Given the description of an element on the screen output the (x, y) to click on. 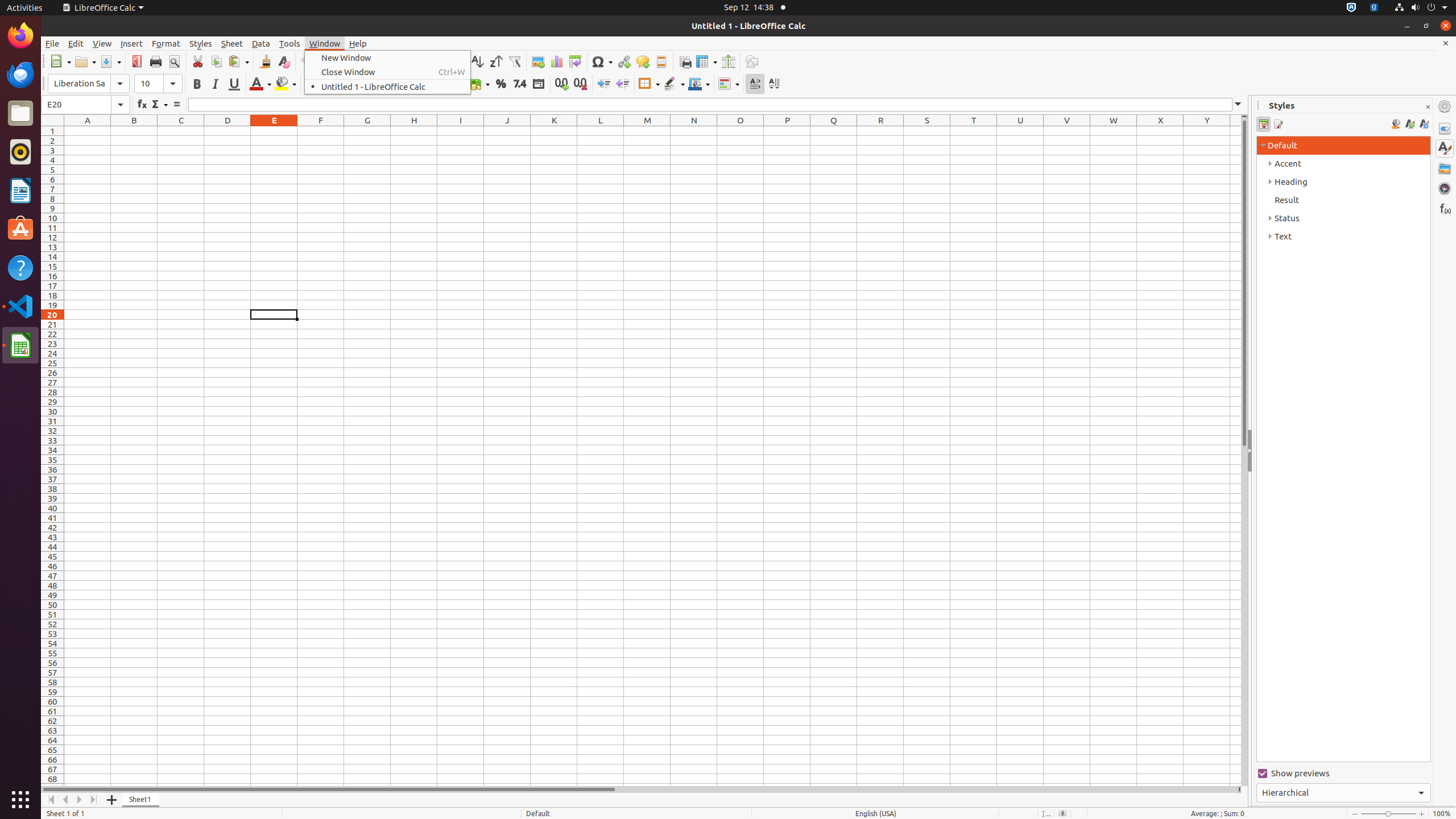
N1 Element type: table-cell (693, 130)
Open Element type: push-button (84, 61)
L1 Element type: table-cell (600, 130)
Move To Home Element type: push-button (51, 799)
Hyperlink Element type: toggle-button (623, 61)
